Given the description of an element on the screen output the (x, y) to click on. 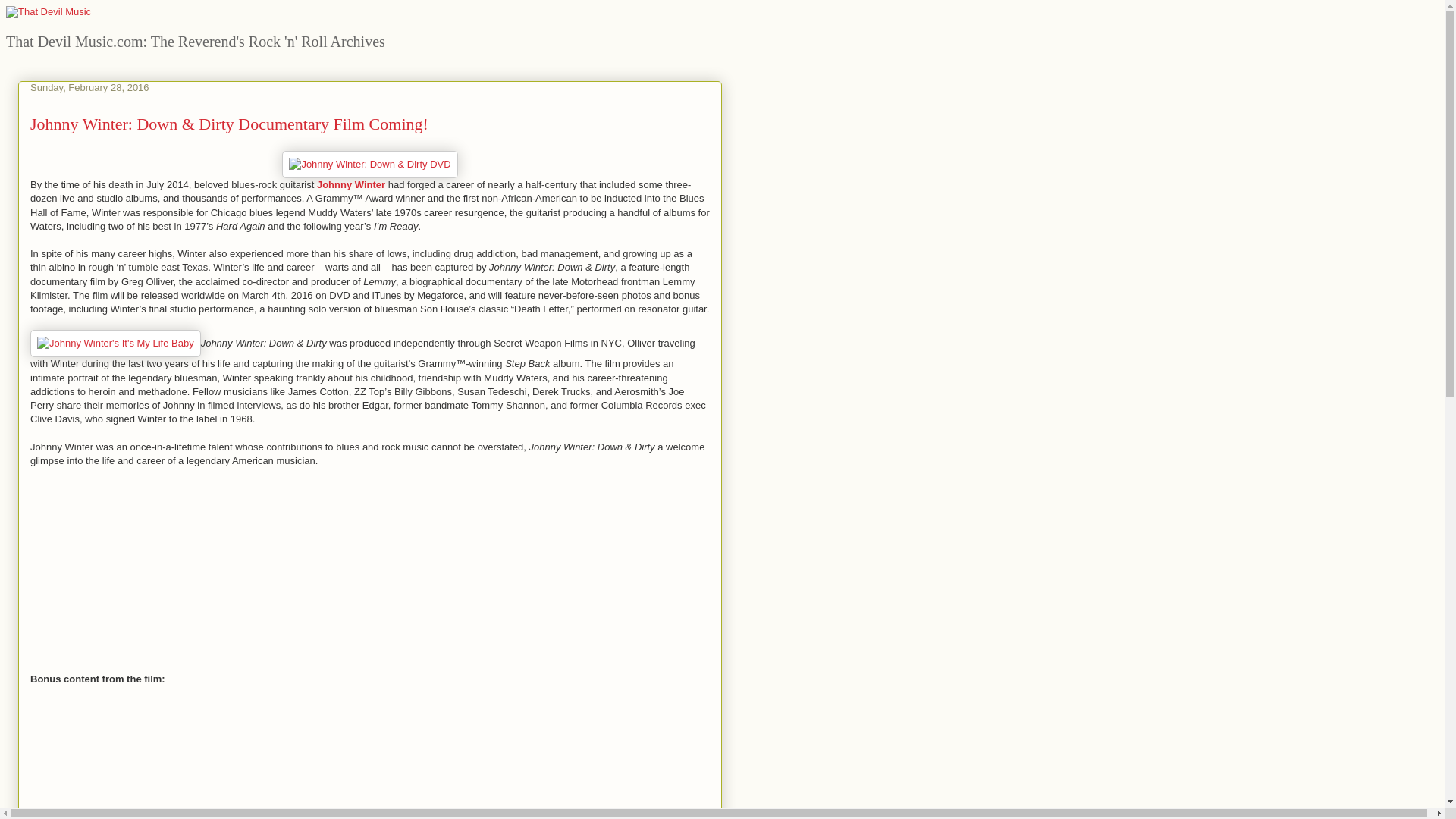
Johnny Winter (351, 184)
